Given the description of an element on the screen output the (x, y) to click on. 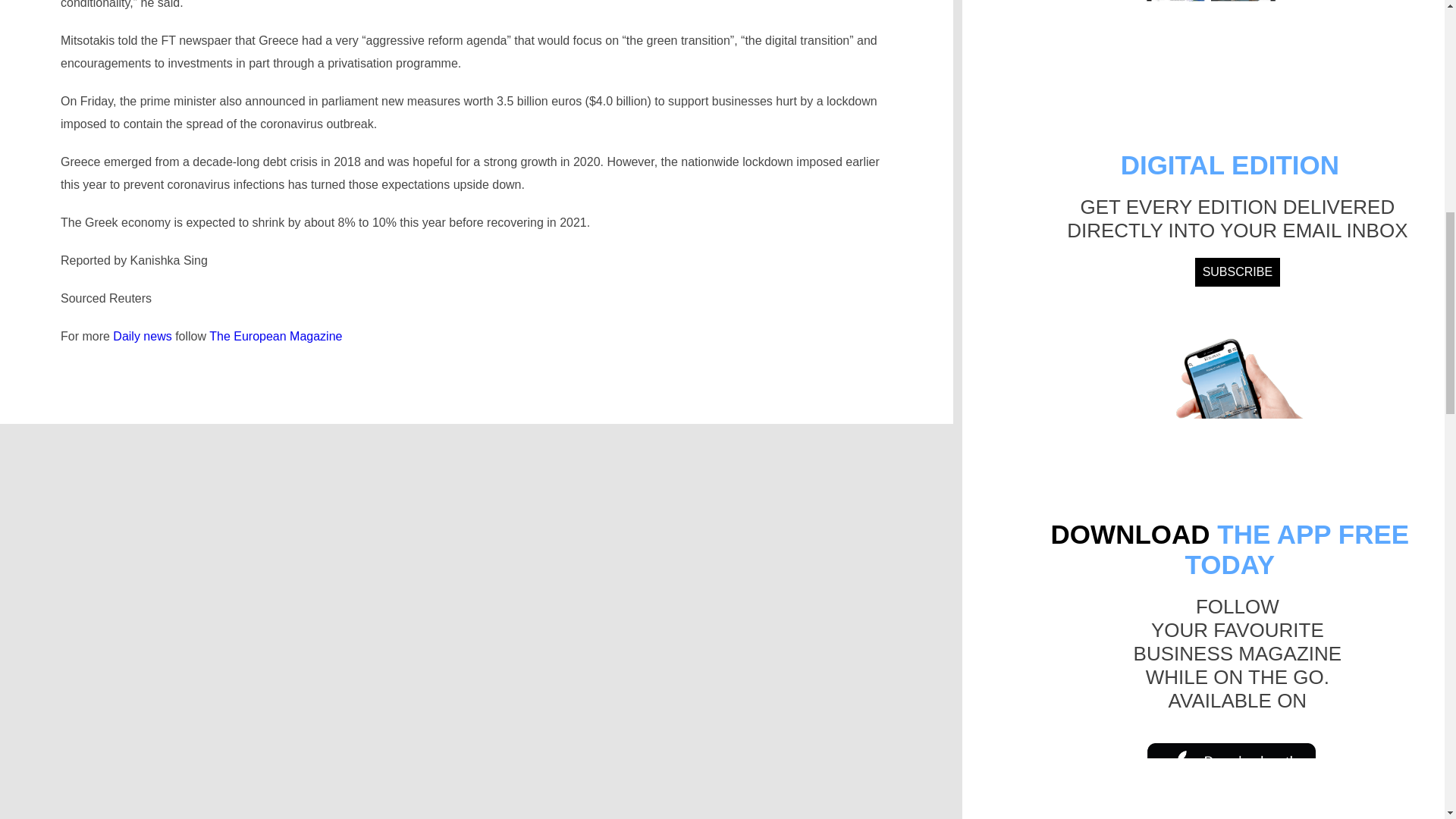
Daily news (142, 336)
SUBSCRIBE (1237, 271)
DOWNLOAD (1130, 533)
The European Magazine (275, 336)
